Given the description of an element on the screen output the (x, y) to click on. 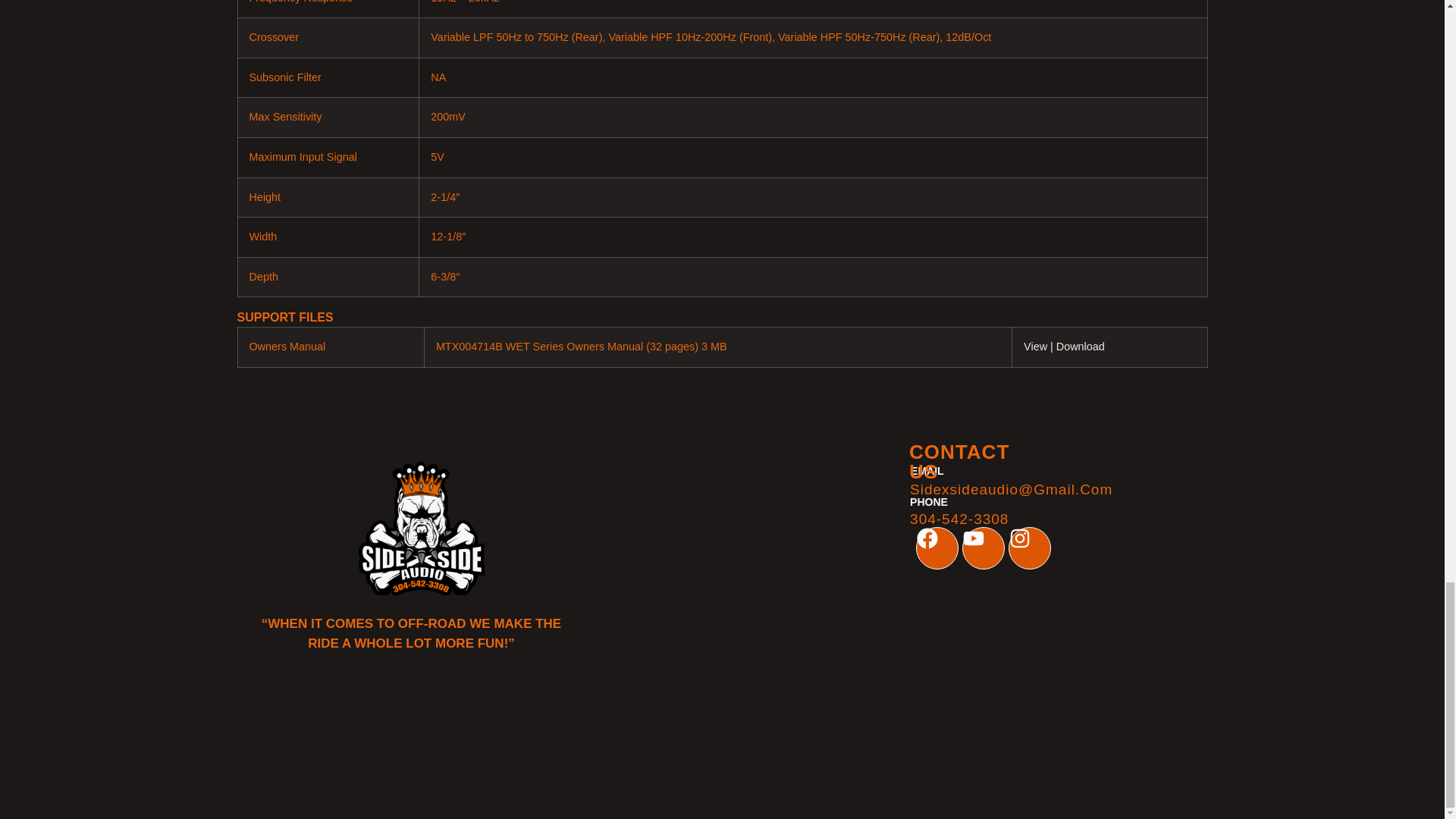
SIDE X SIDE AUDIO (721, 758)
MTX004714B-WET-Series-Owners-Manual.pdf (1040, 346)
MTX004714B-WET-Series-Owners-Manual.pdf (1081, 346)
